Given the description of an element on the screen output the (x, y) to click on. 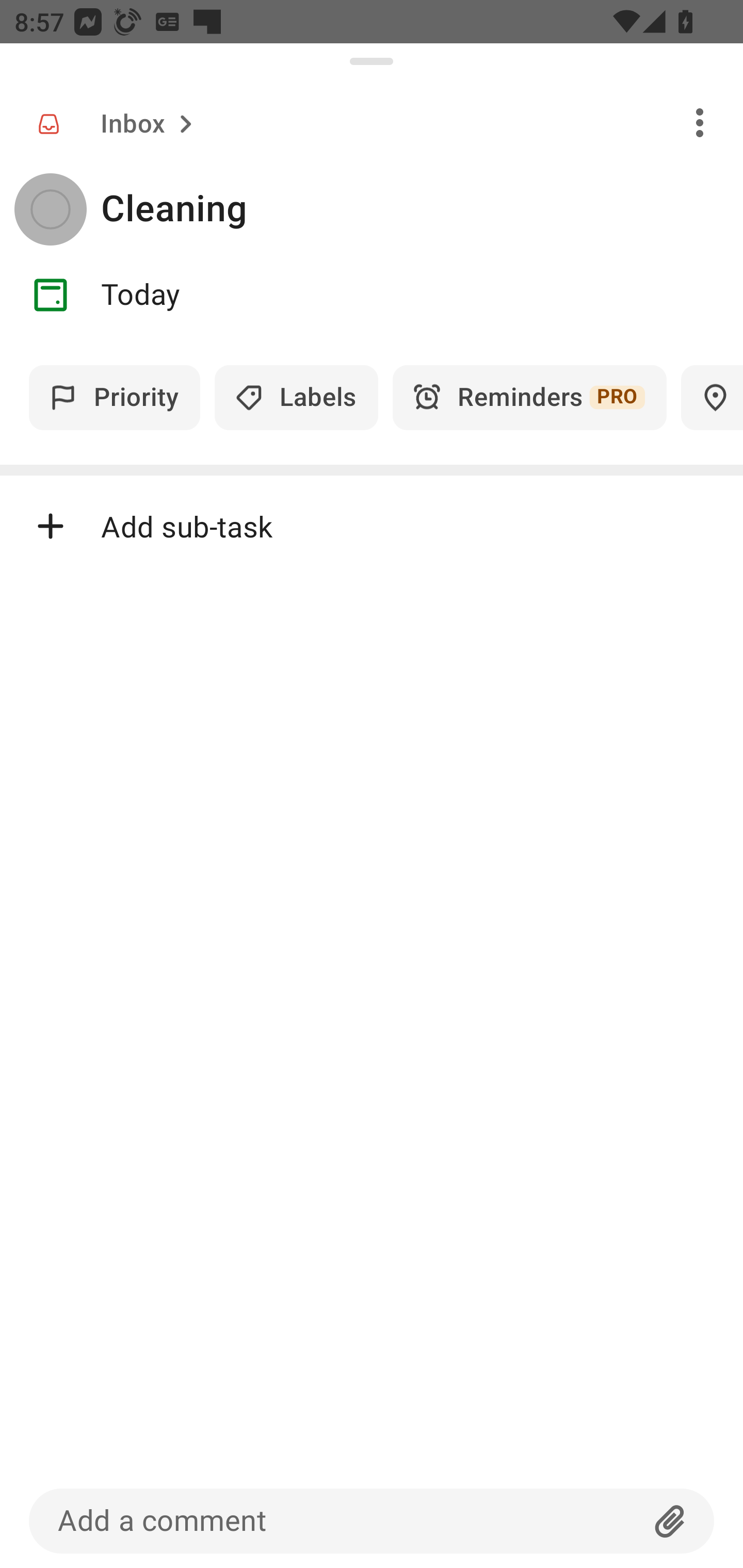
Overflow menu (699, 122)
Complete (50, 209)
Cleaning​ (422, 209)
Date Today (371, 295)
Priority (113, 397)
Labels (296, 397)
Reminders PRO (529, 397)
Locations PRO (712, 397)
Add sub-task (371, 525)
Add a comment Attachment (371, 1520)
Attachment (670, 1520)
